Given the description of an element on the screen output the (x, y) to click on. 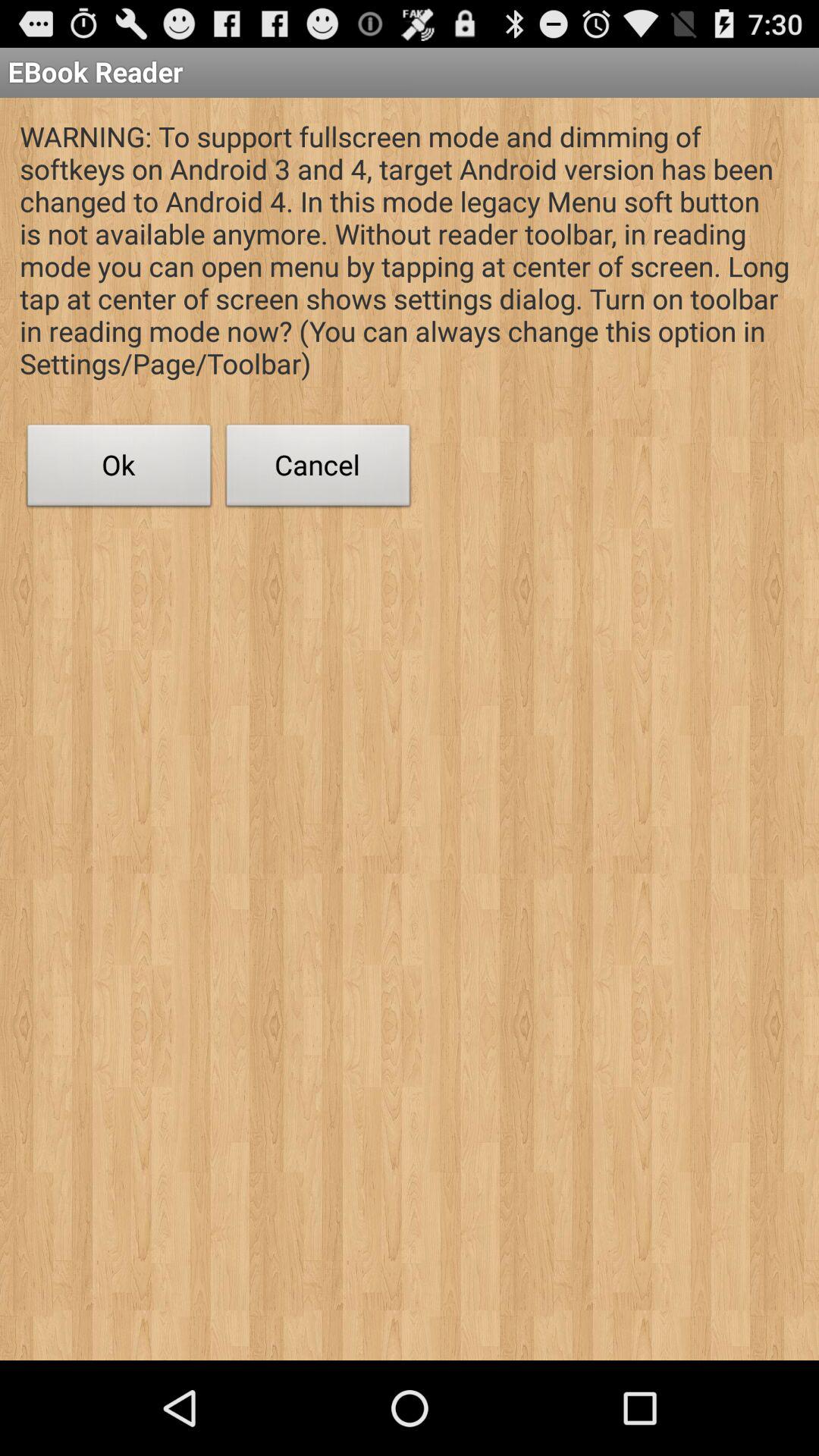
flip until cancel (318, 469)
